Given the description of an element on the screen output the (x, y) to click on. 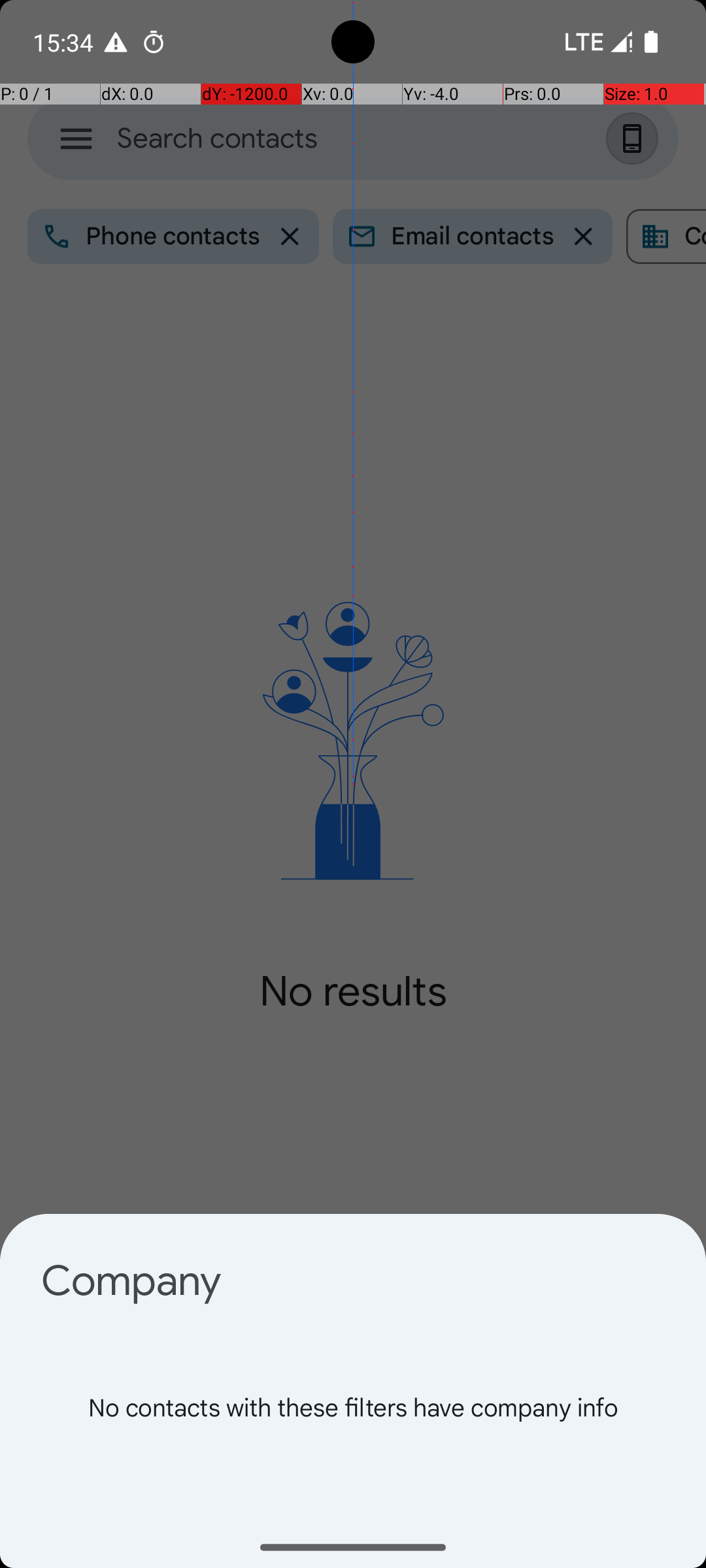
No contacts with these filters have company info Element type: android.widget.TextView (352, 1437)
